Given the description of an element on the screen output the (x, y) to click on. 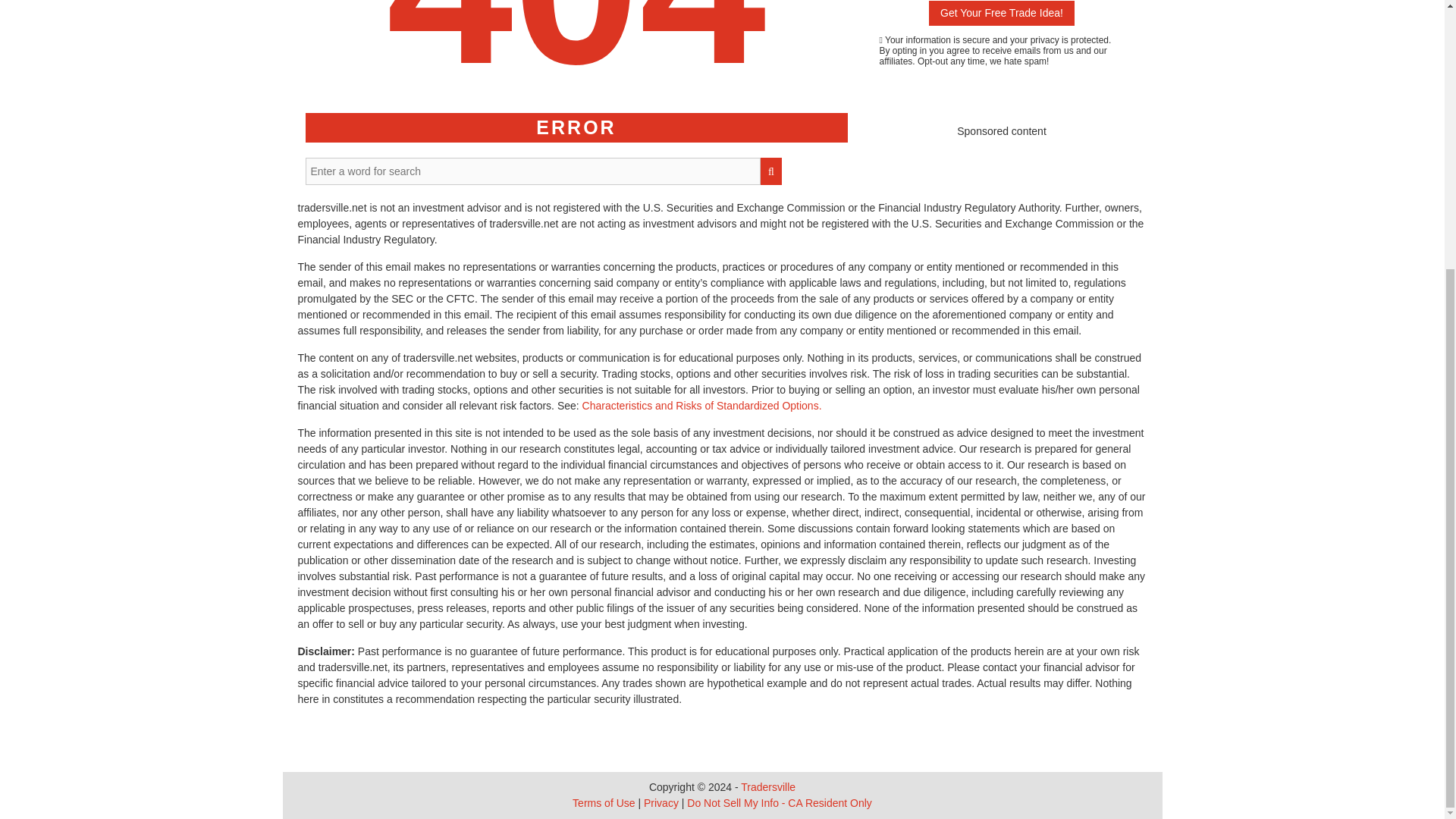
Characteristics and Risks of Standardized Options. (702, 405)
Privacy (660, 802)
Do Not Sell My Info - CA Resident Only (779, 802)
Get Your Free Trade Idea! (1001, 12)
Tradersville (767, 787)
Terms of Use (603, 802)
